Given the description of an element on the screen output the (x, y) to click on. 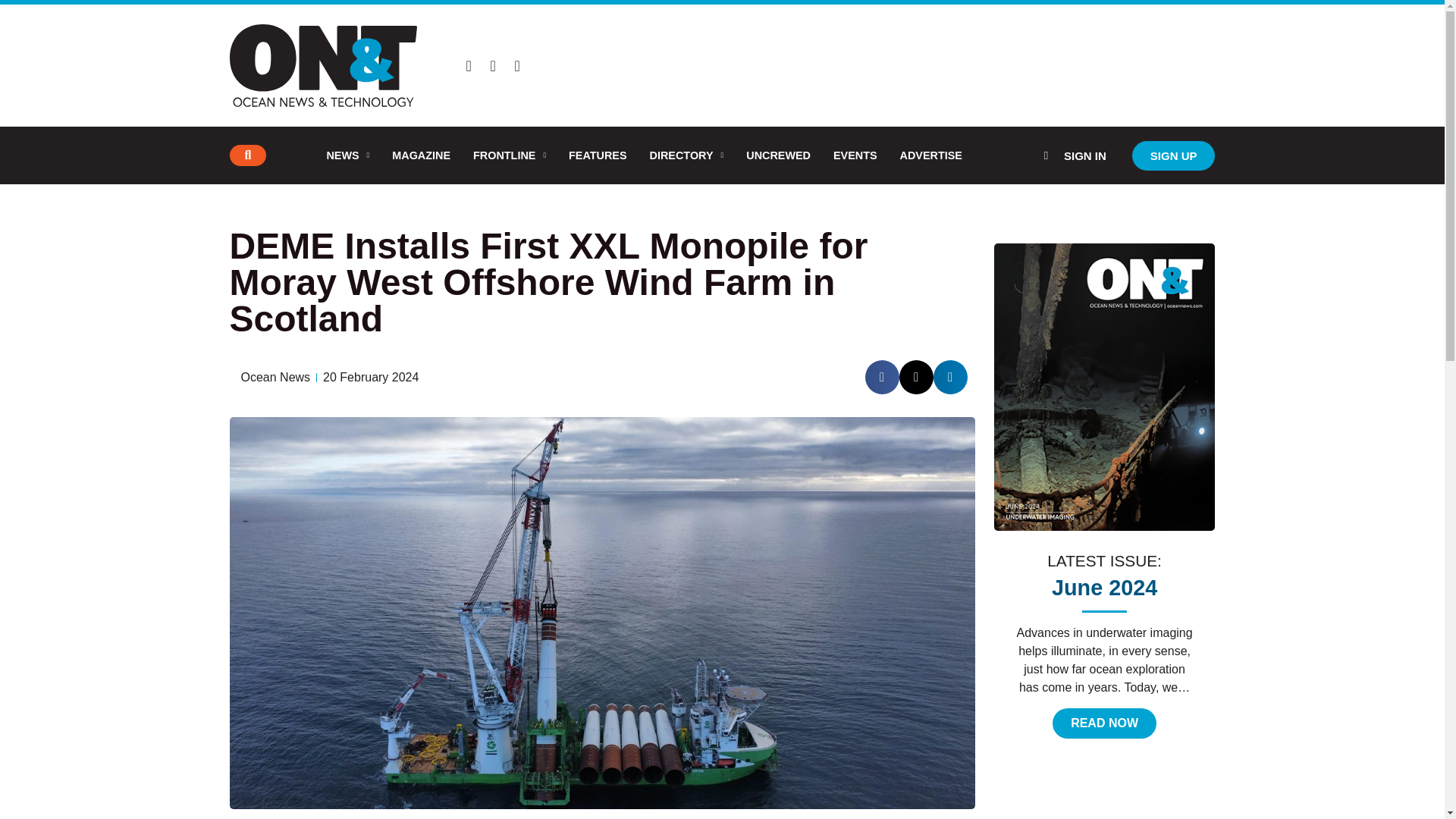
FEATURES (598, 155)
ADVERTISE (931, 155)
FRONTLINE (509, 155)
NEWS (347, 155)
EVENTS (855, 155)
MAGAZINE (420, 155)
DIRECTORY (687, 155)
UNCREWED (778, 155)
